Given the description of an element on the screen output the (x, y) to click on. 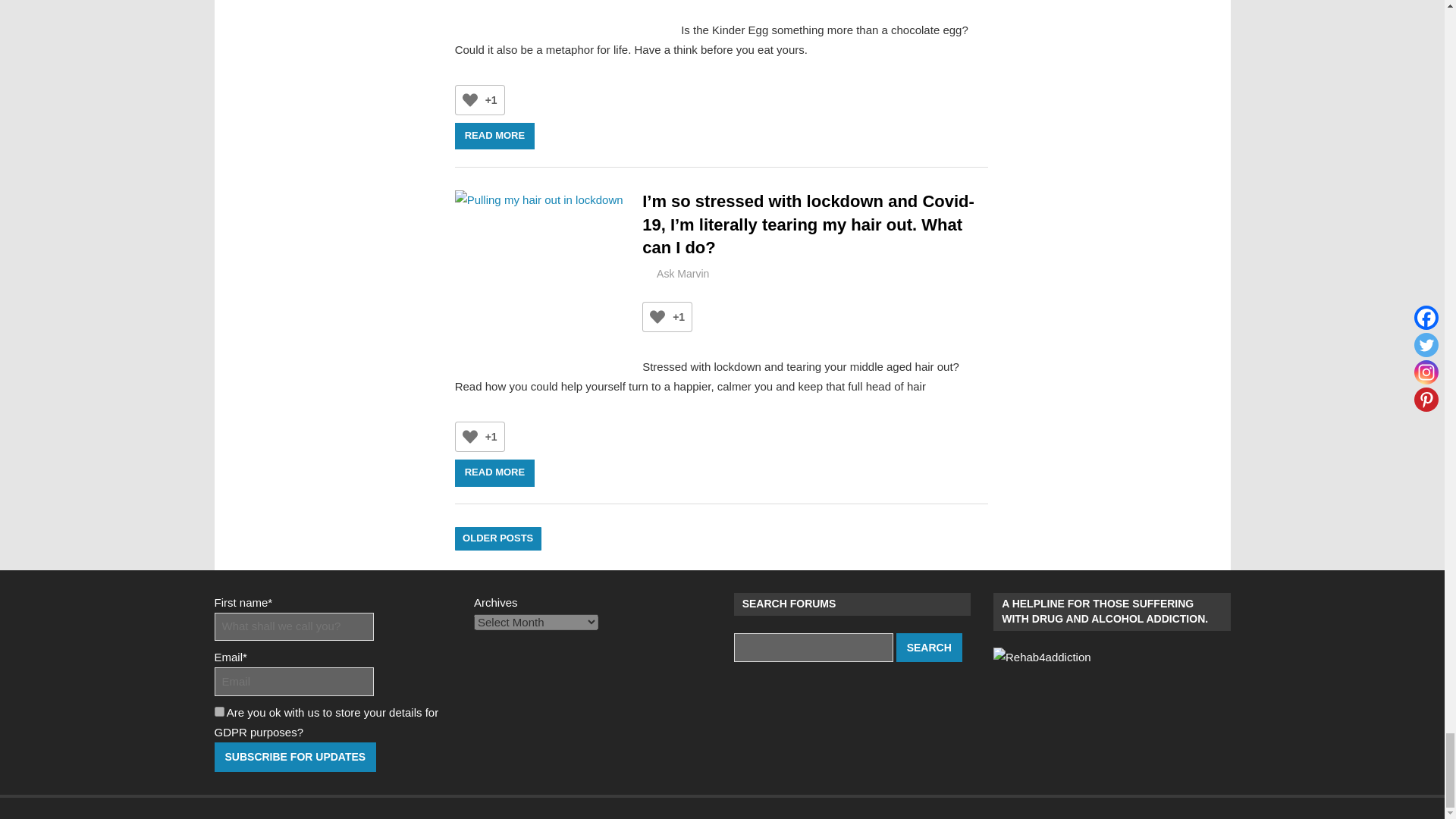
Subscribe for updates (294, 757)
Search (929, 647)
true (219, 711)
